Given the description of an element on the screen output the (x, y) to click on. 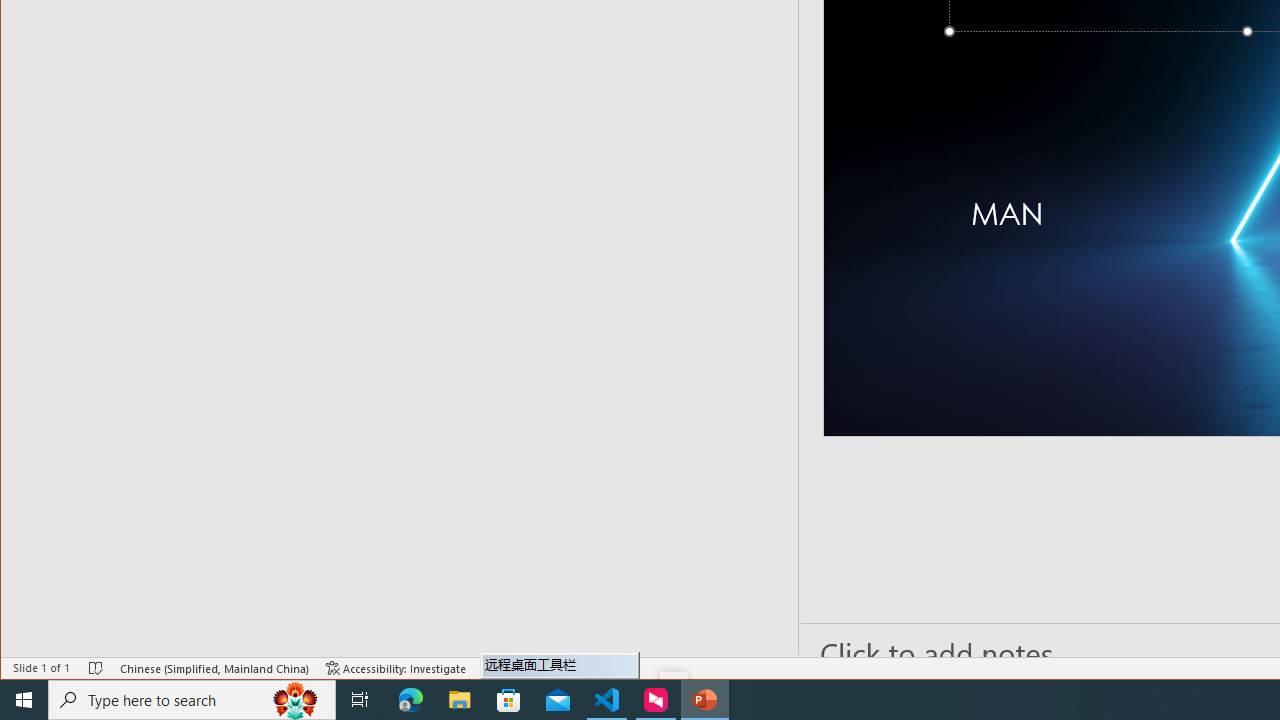
Microsoft Edge (411, 699)
